Given the description of an element on the screen output the (x, y) to click on. 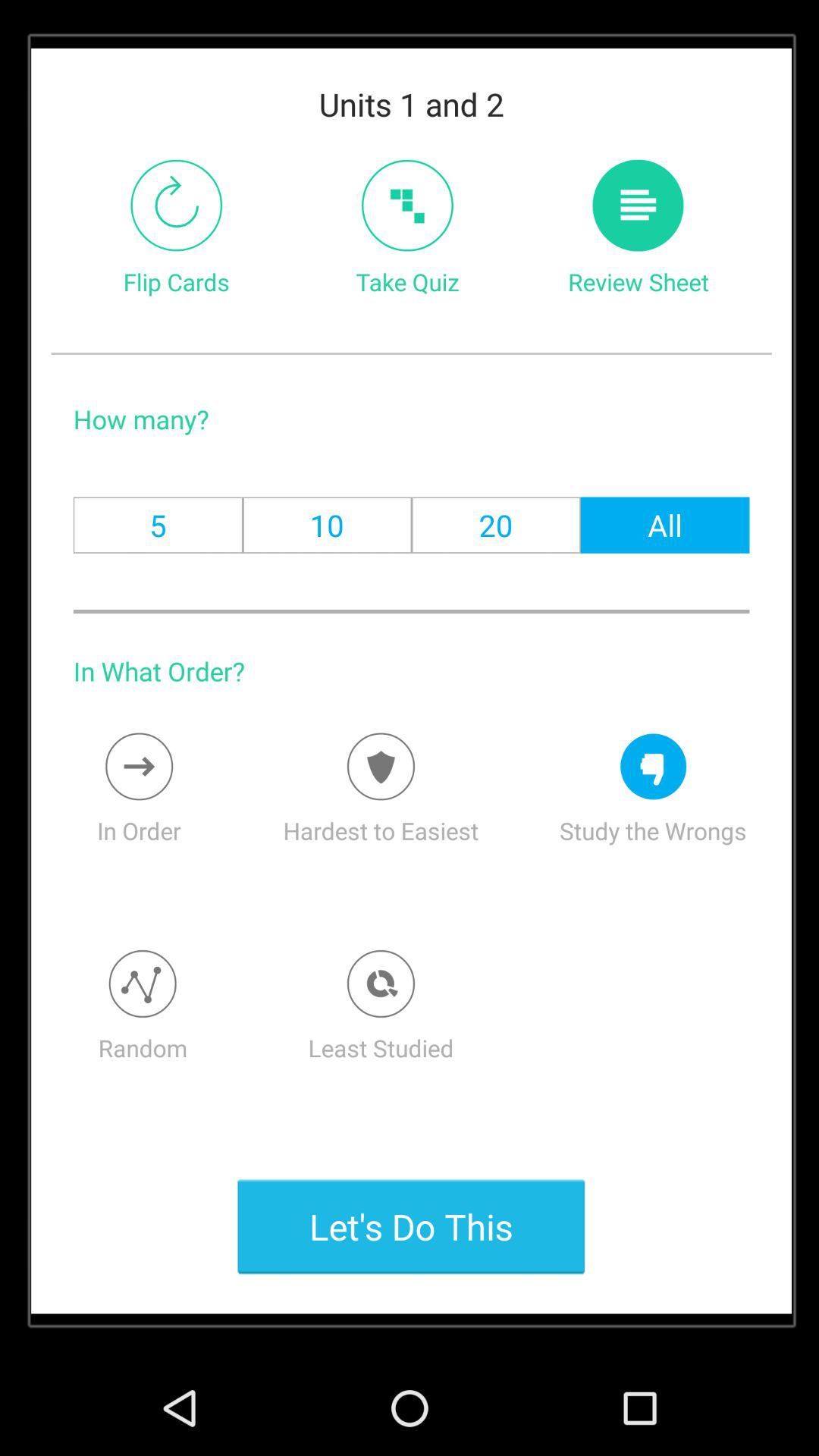
choose item to the right of the 20 item (664, 525)
